Given the description of an element on the screen output the (x, y) to click on. 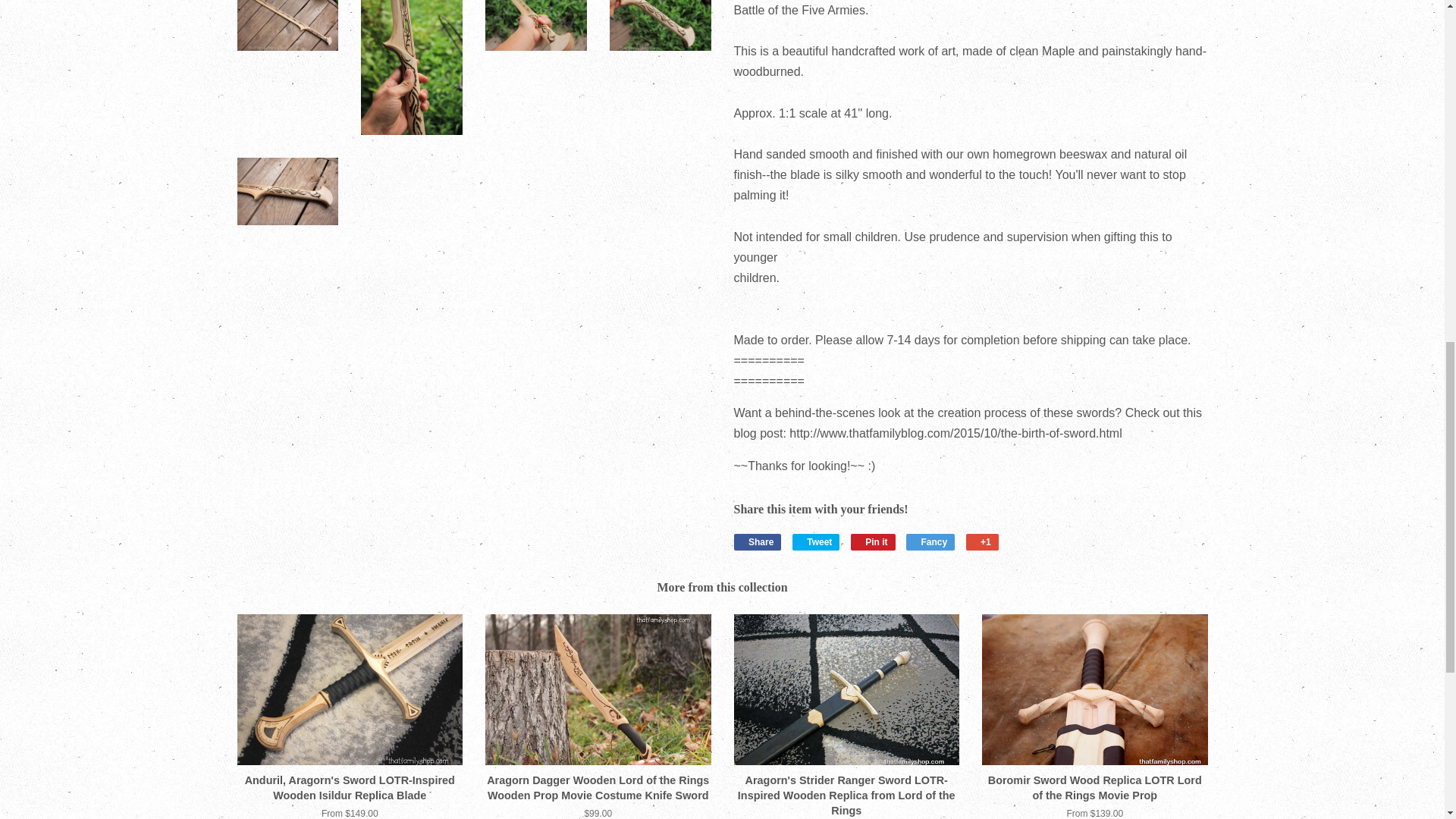
Add to Fancy (930, 541)
Pin on Pinterest (872, 541)
Tweet on Twitter (816, 541)
Share on Facebook (757, 541)
